Given the description of an element on the screen output the (x, y) to click on. 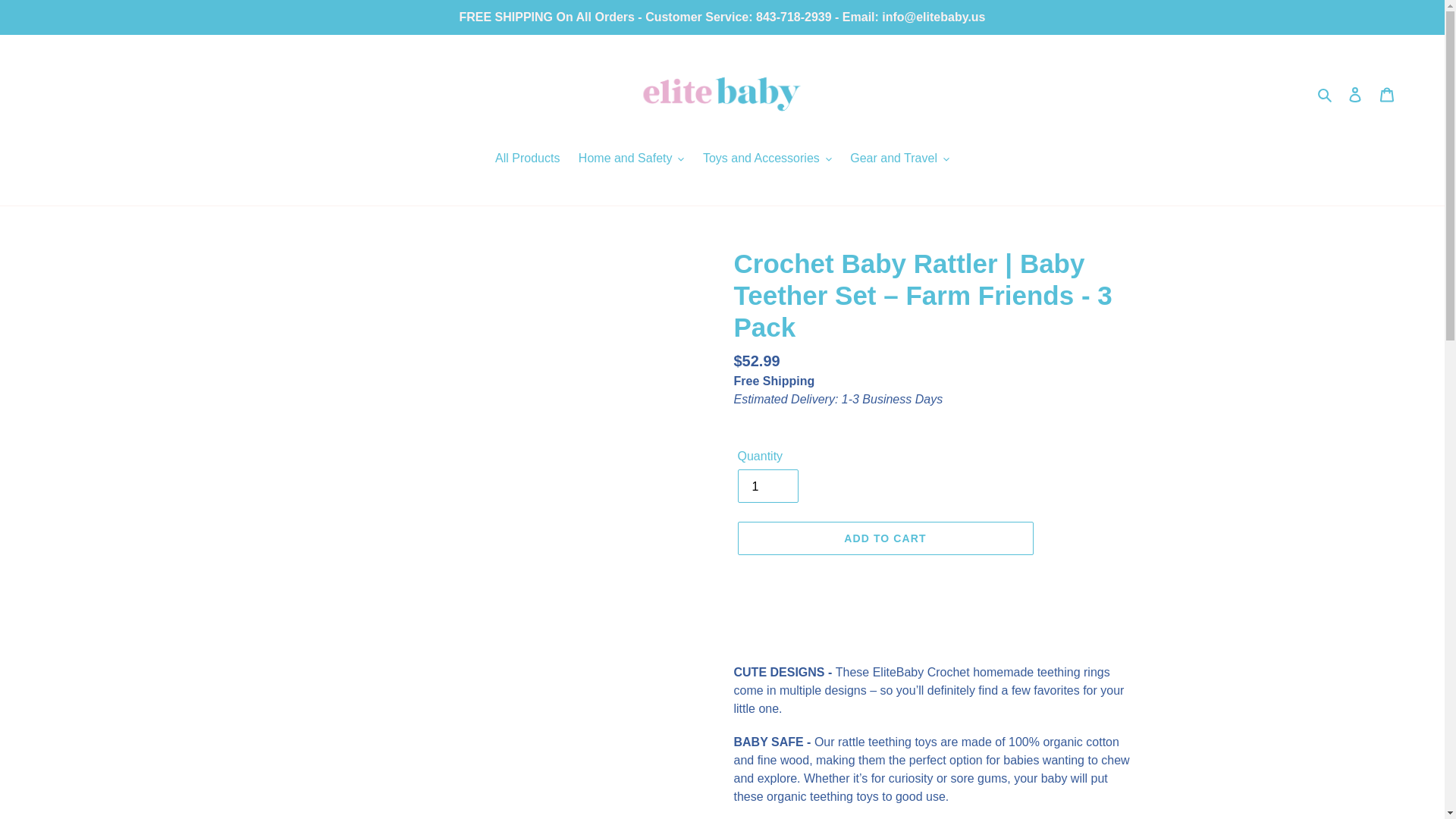
Cart (1387, 93)
Log in (1355, 93)
Search (1326, 94)
1 (766, 485)
